Given the description of an element on the screen output the (x, y) to click on. 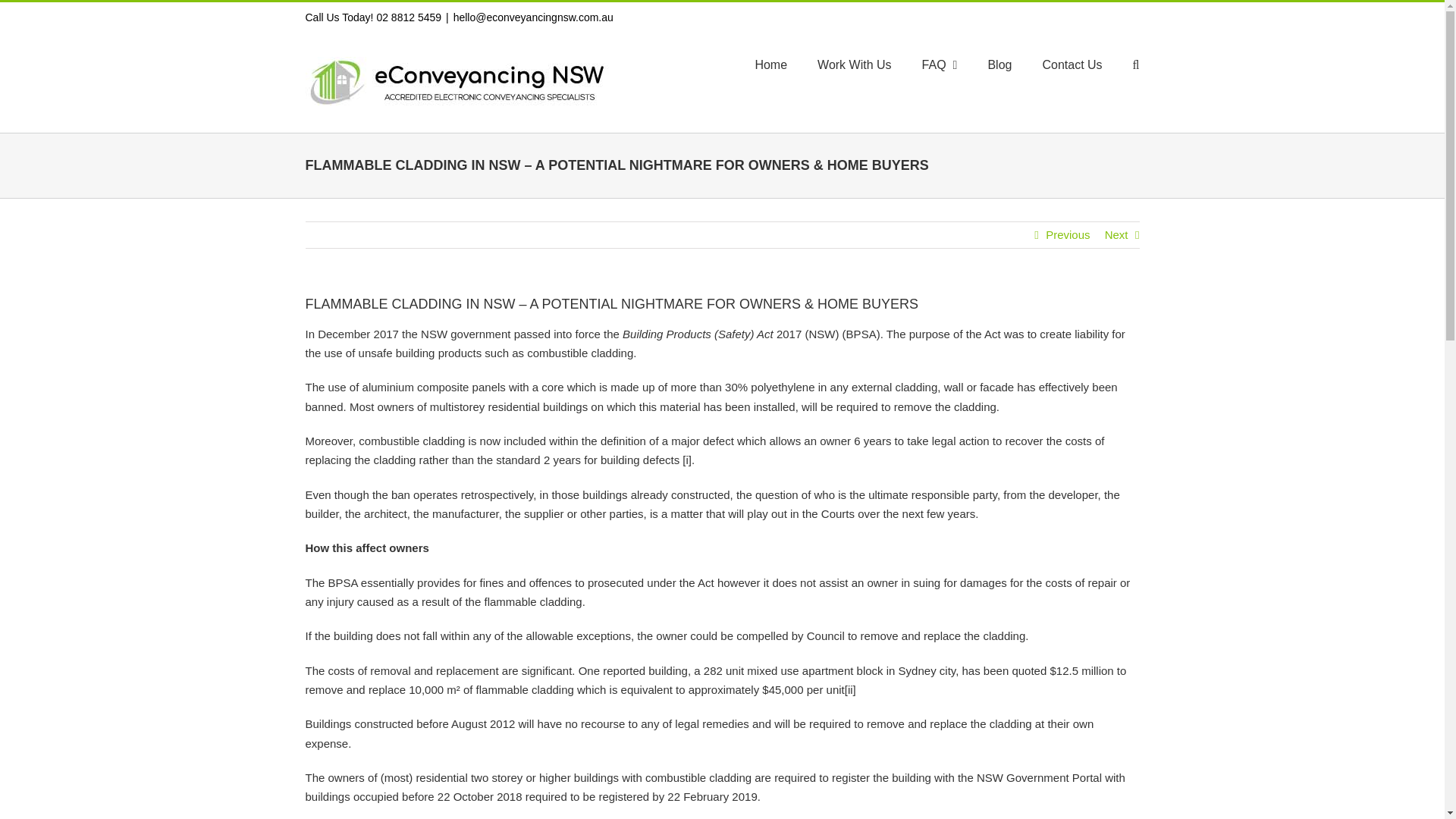
Next (1116, 234)
Work With Us (853, 65)
Contact Us (1072, 65)
Previous (1067, 234)
